Given the description of an element on the screen output the (x, y) to click on. 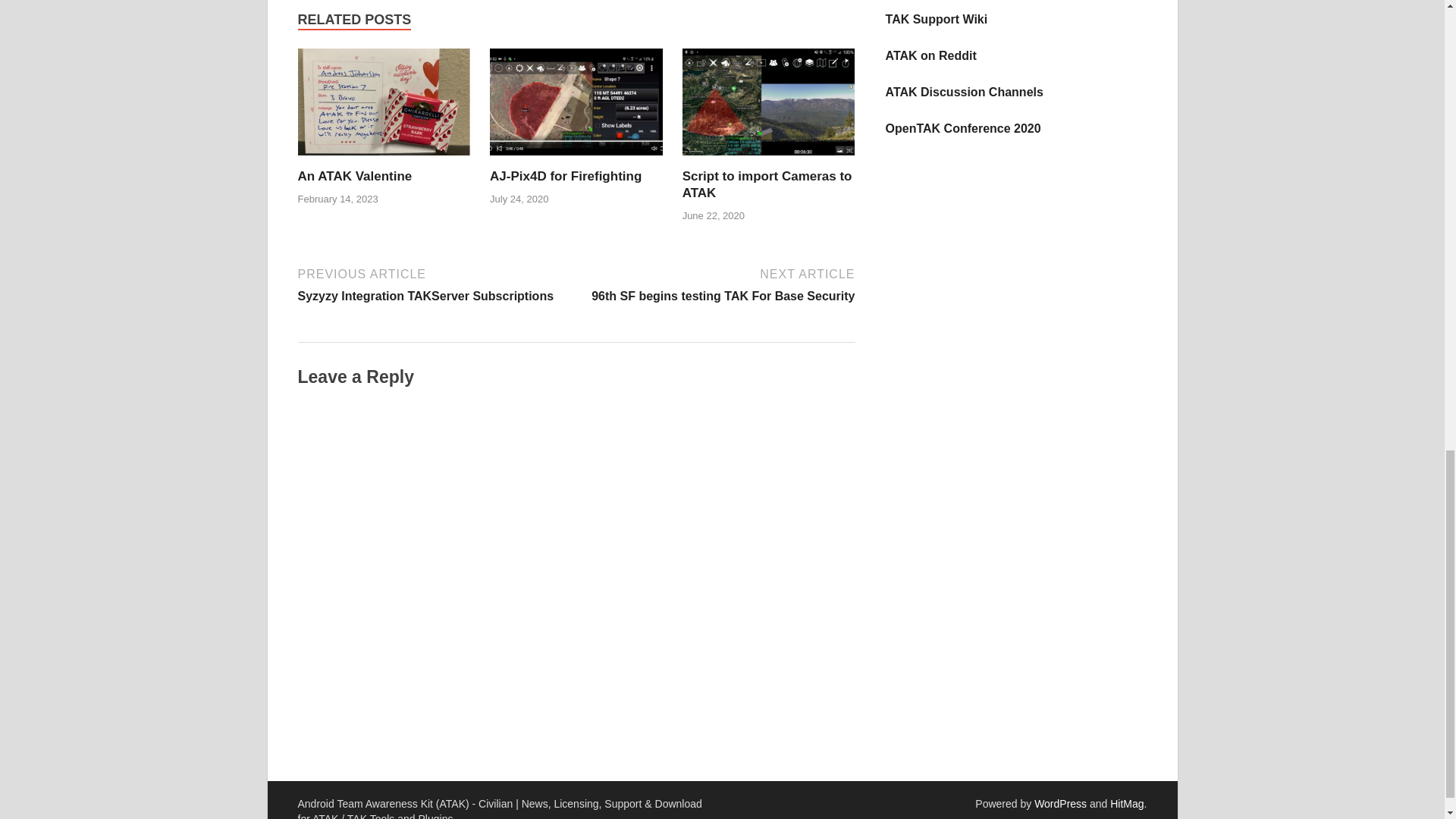
HitMag WordPress Theme (1125, 803)
Script to import Cameras to ATAK (717, 283)
AJ-Pix4D for Firefighting (766, 183)
Script to import Cameras to ATAK (565, 175)
An ATAK Valentine (434, 283)
Script to import Cameras to ATAK (766, 183)
An ATAK Valentine (383, 106)
AJ-Pix4D for Firefighting (769, 106)
